Given the description of an element on the screen output the (x, y) to click on. 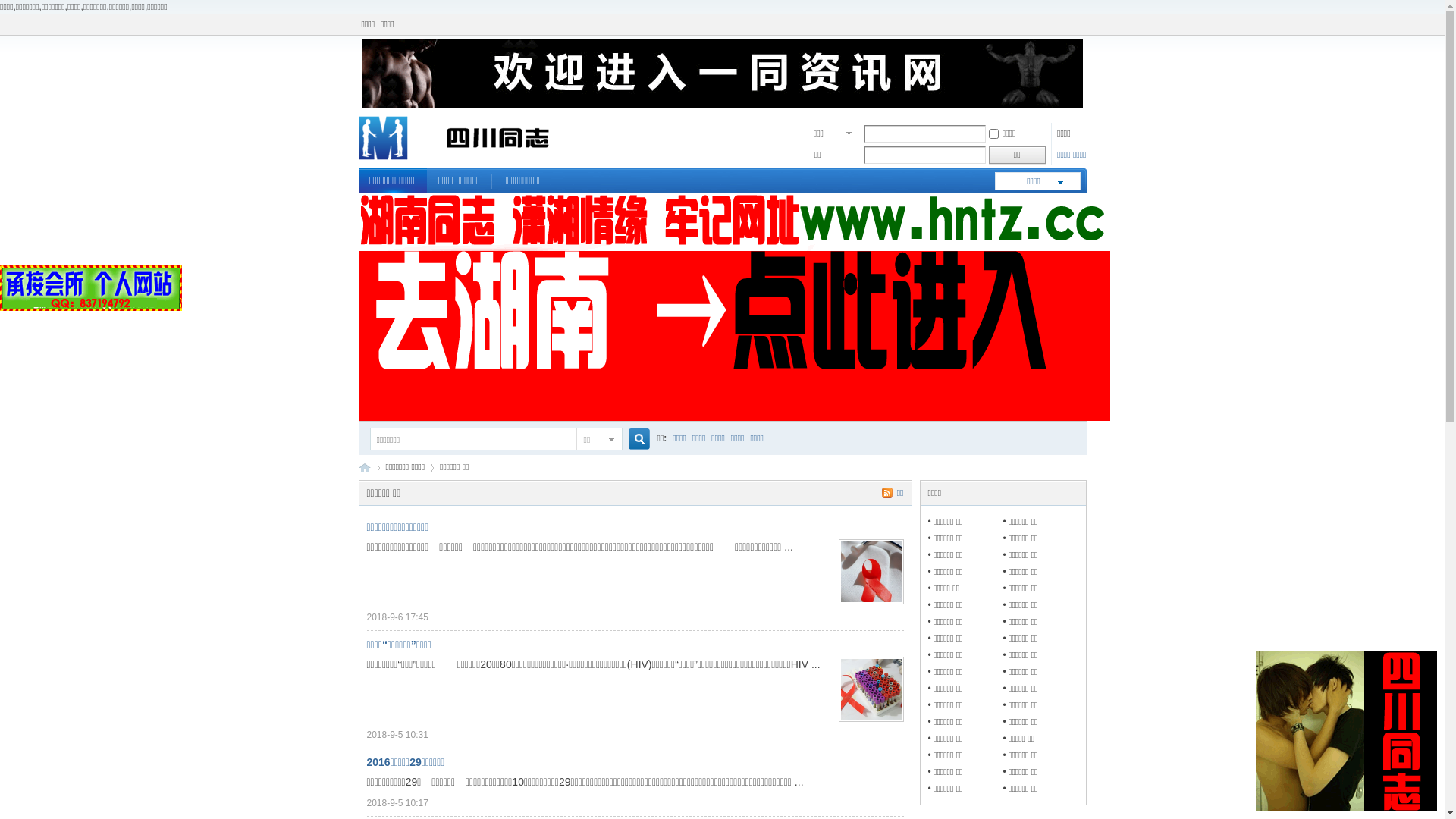
true Element type: text (632, 439)
